Given the description of an element on the screen output the (x, y) to click on. 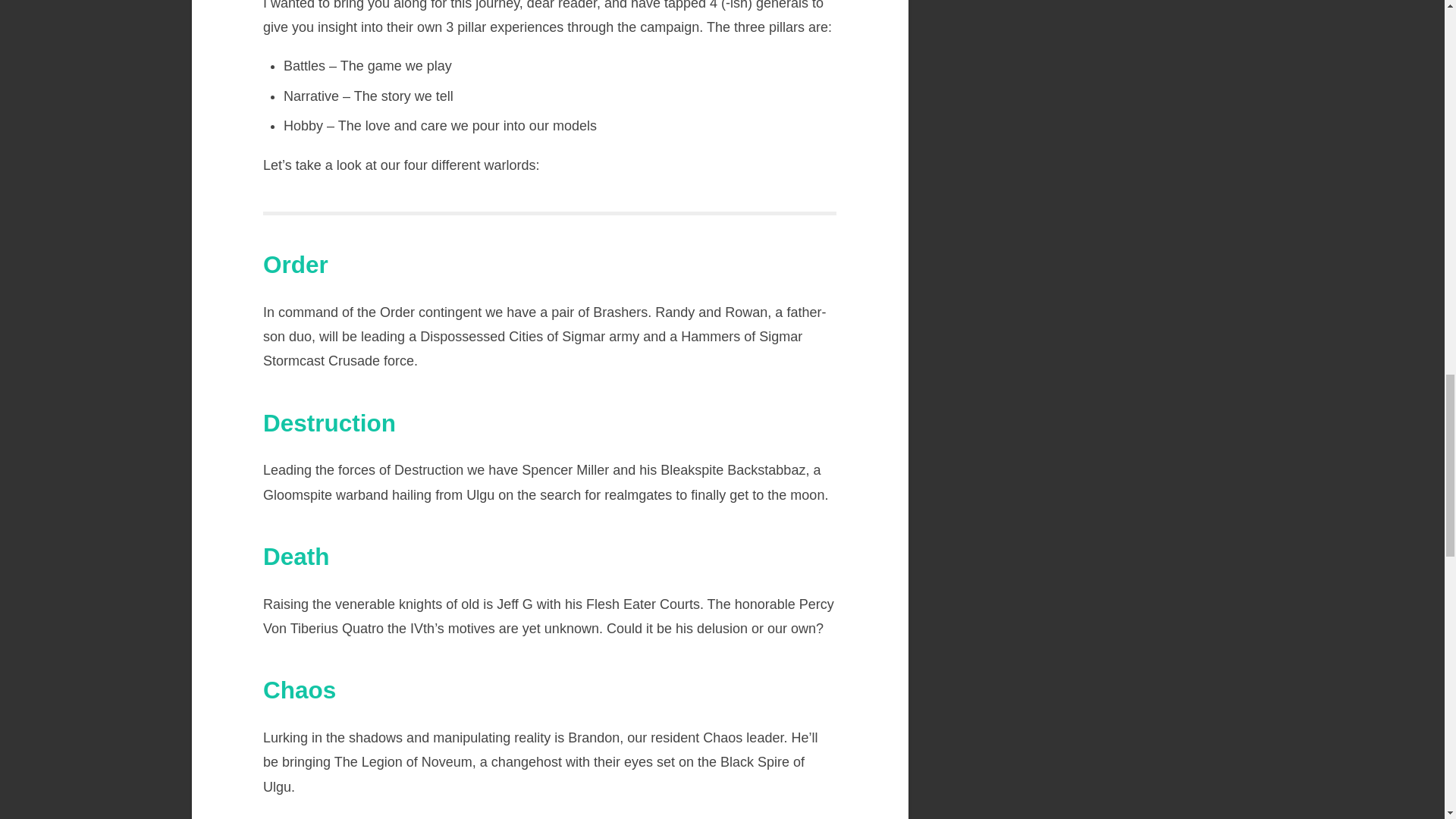
Order (296, 264)
Chaos (299, 689)
Death (296, 556)
Destruction (329, 422)
